Given the description of an element on the screen output the (x, y) to click on. 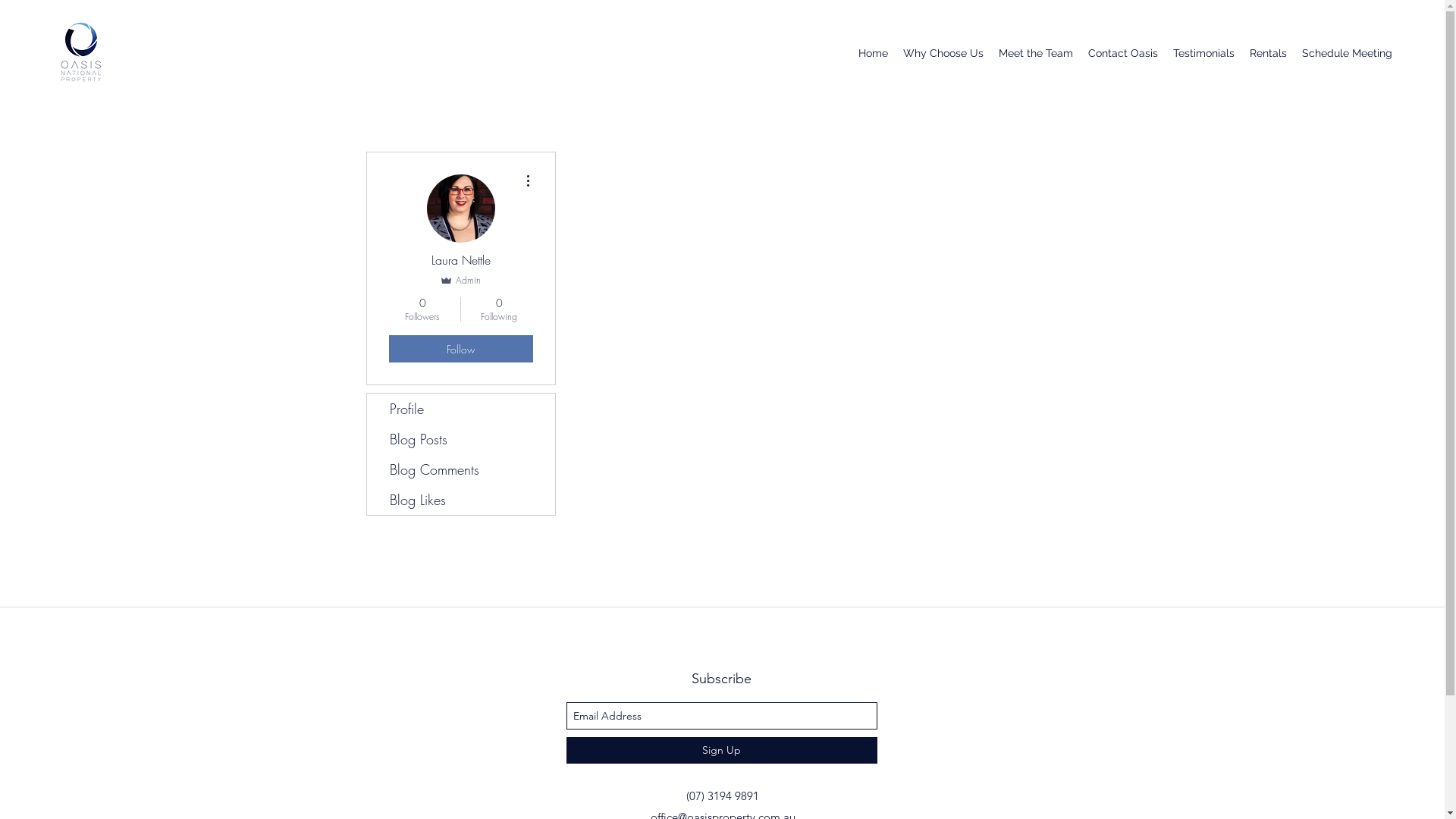
0
Followers Element type: text (421, 309)
0
Following Element type: text (499, 309)
Blog Posts Element type: text (461, 438)
Meet the Team Element type: text (1035, 52)
Contact Oasis Element type: text (1122, 52)
Testimonials Element type: text (1203, 52)
Sign Up Element type: text (720, 750)
Profile Element type: text (461, 408)
Home Element type: text (872, 52)
Schedule Meeting Element type: text (1346, 52)
Rentals Element type: text (1268, 52)
Follow Element type: text (460, 348)
Blog Comments Element type: text (461, 469)
Why Choose Us Element type: text (943, 52)
Blog Likes Element type: text (461, 499)
